Given the description of an element on the screen output the (x, y) to click on. 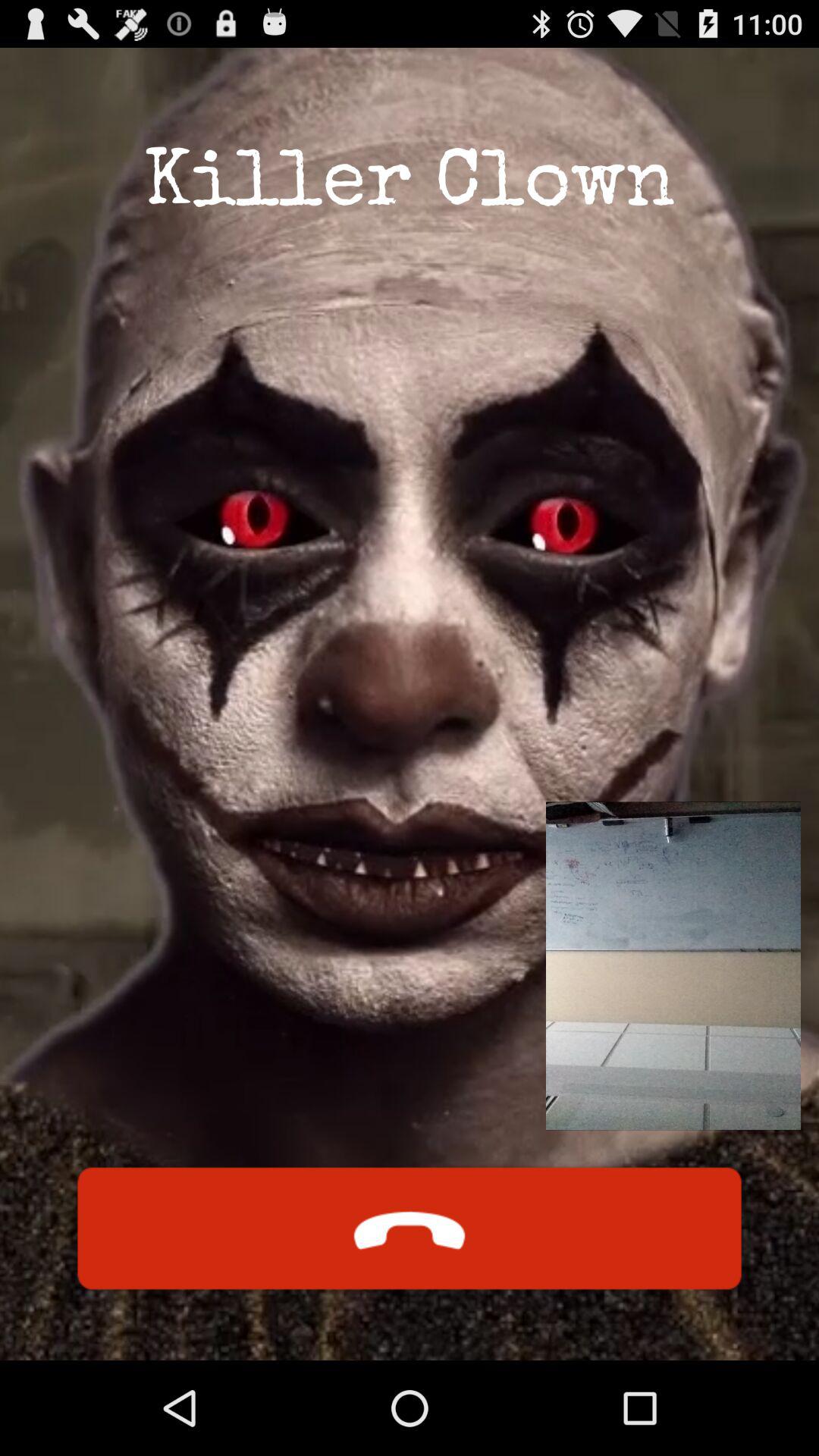
hang up the call (409, 1228)
